Given the description of an element on the screen output the (x, y) to click on. 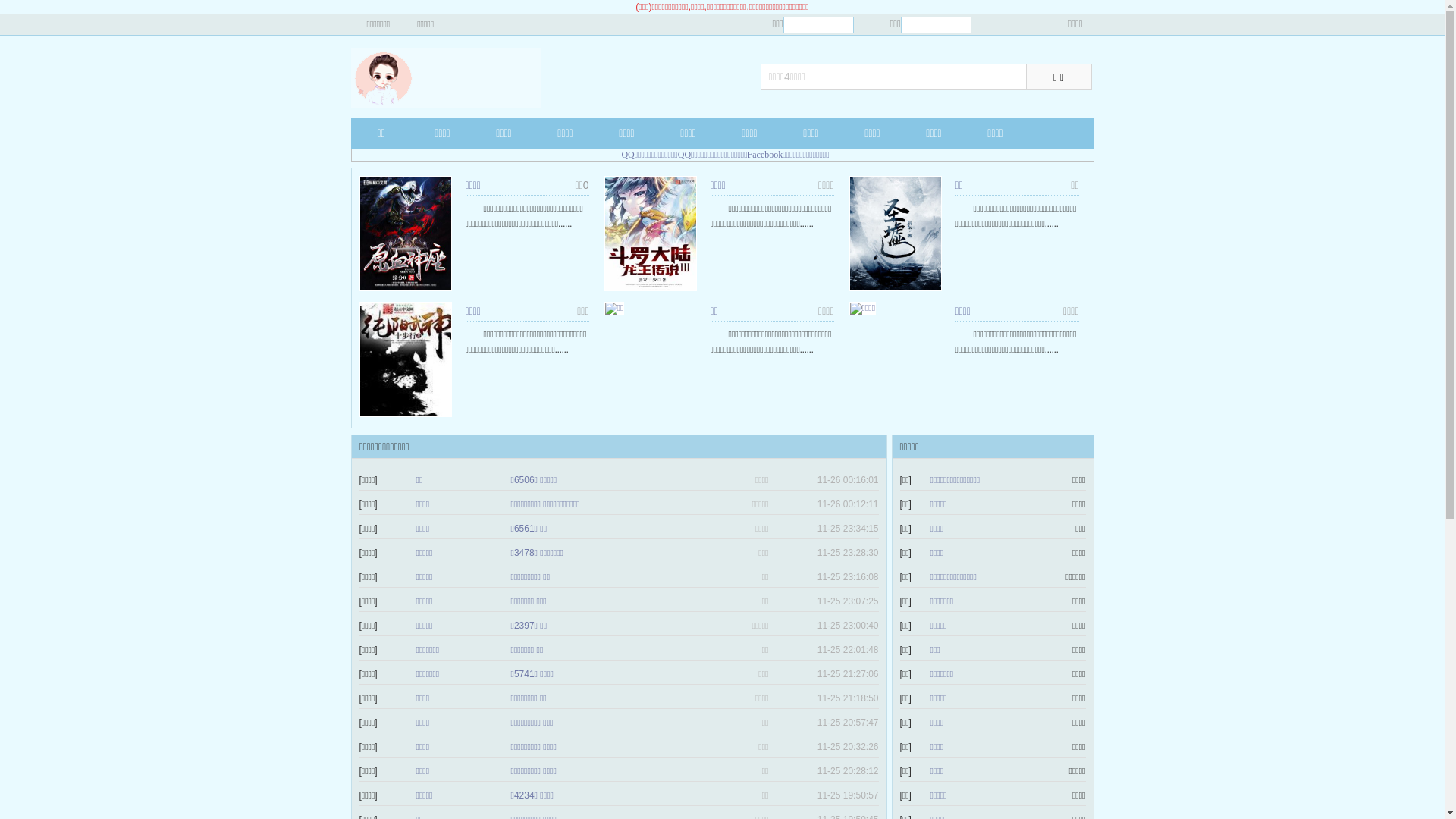
Facebook Element type: text (765, 154)
